Given the description of an element on the screen output the (x, y) to click on. 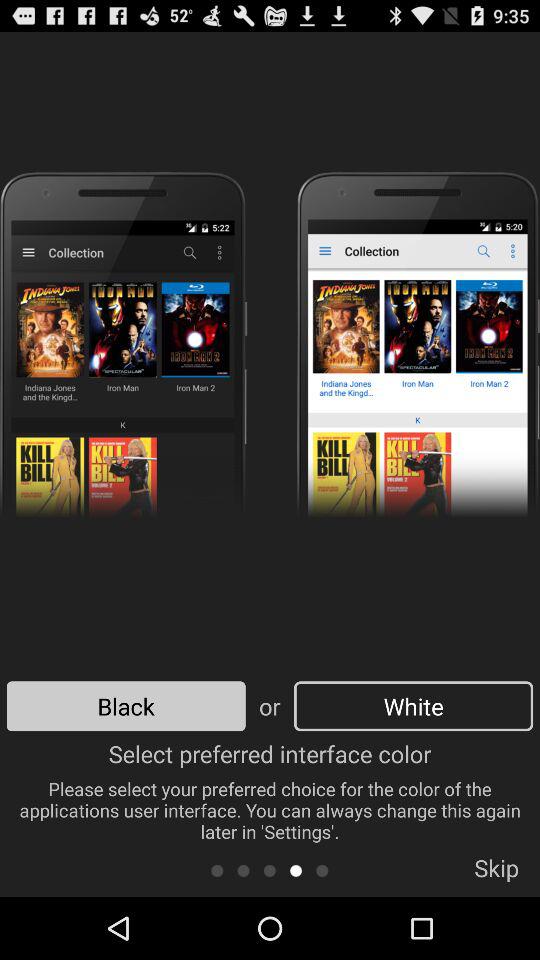
turn on item next to the or (413, 706)
